Given the description of an element on the screen output the (x, y) to click on. 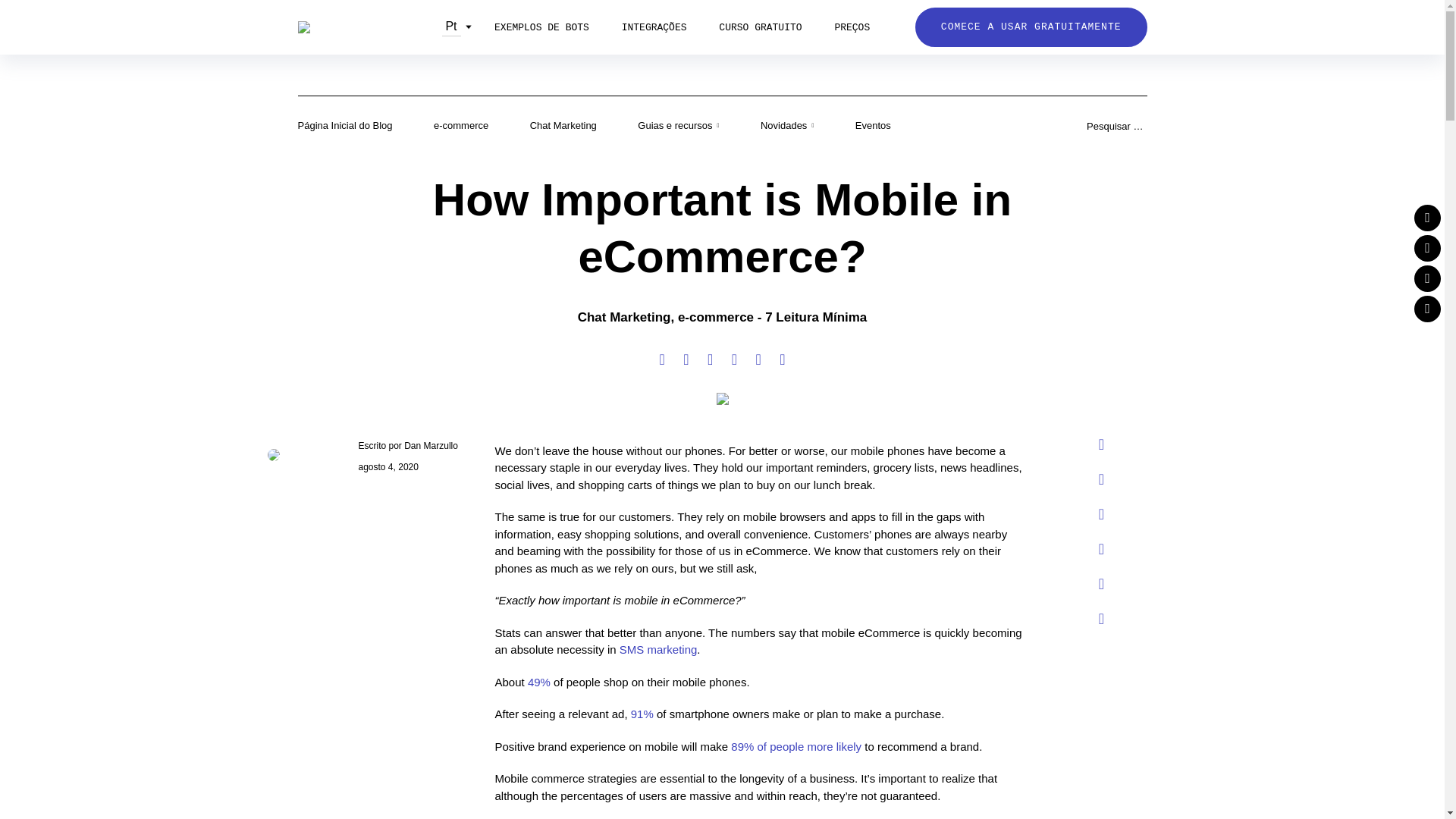
SMS marketing (658, 649)
Chat Marketing (624, 317)
e-commerce (460, 125)
Pesquisar (5, 2)
Novidades (786, 126)
Dan Marzullo (431, 444)
Chat Marketing (562, 125)
CURSO GRATUITO (760, 28)
COMECE A USAR GRATUITAMENTE (1031, 26)
e-commerce (716, 317)
EXEMPLOS DE BOTS (542, 28)
Guias e recursos (678, 126)
Eventos (873, 125)
